Given the description of an element on the screen output the (x, y) to click on. 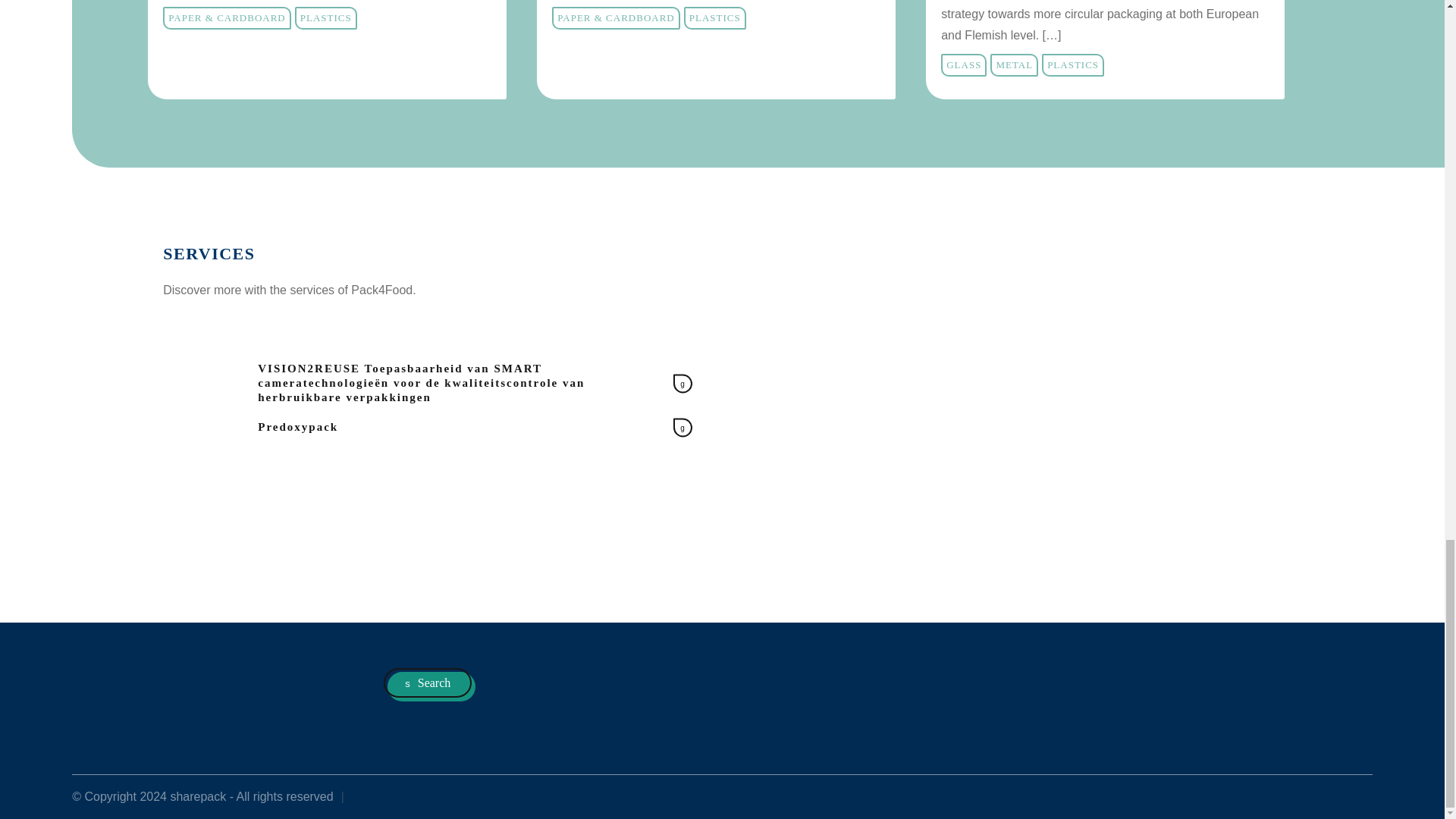
Visiter le site de globulebleu (1351, 796)
sharepack (140, 683)
Predoxypack (474, 427)
Discover the project (327, 49)
Discover the project (1105, 49)
Search (427, 682)
Discover the project (716, 49)
